Given the description of an element on the screen output the (x, y) to click on. 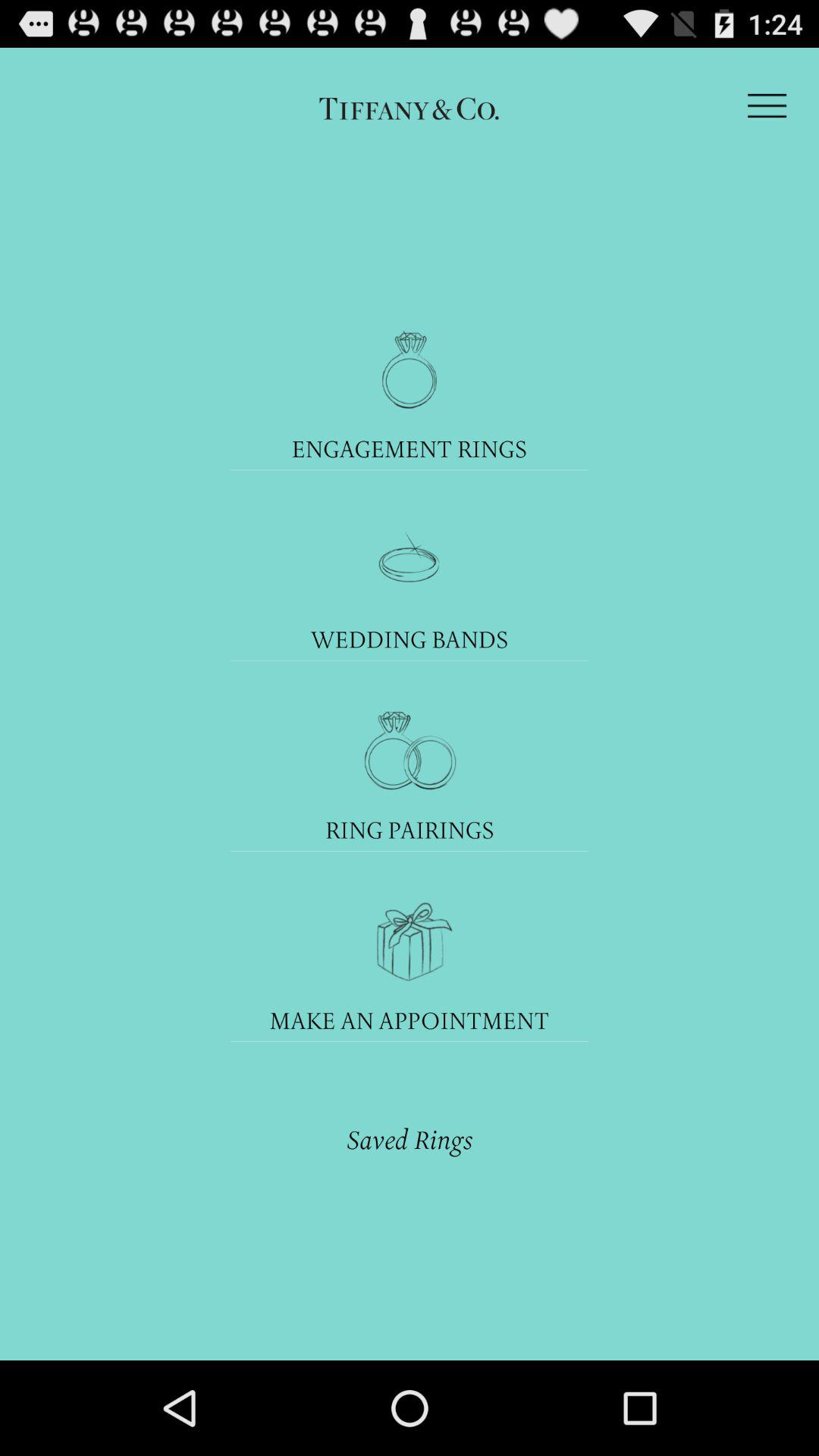
launch the engagement rings icon (409, 448)
